Given the description of an element on the screen output the (x, y) to click on. 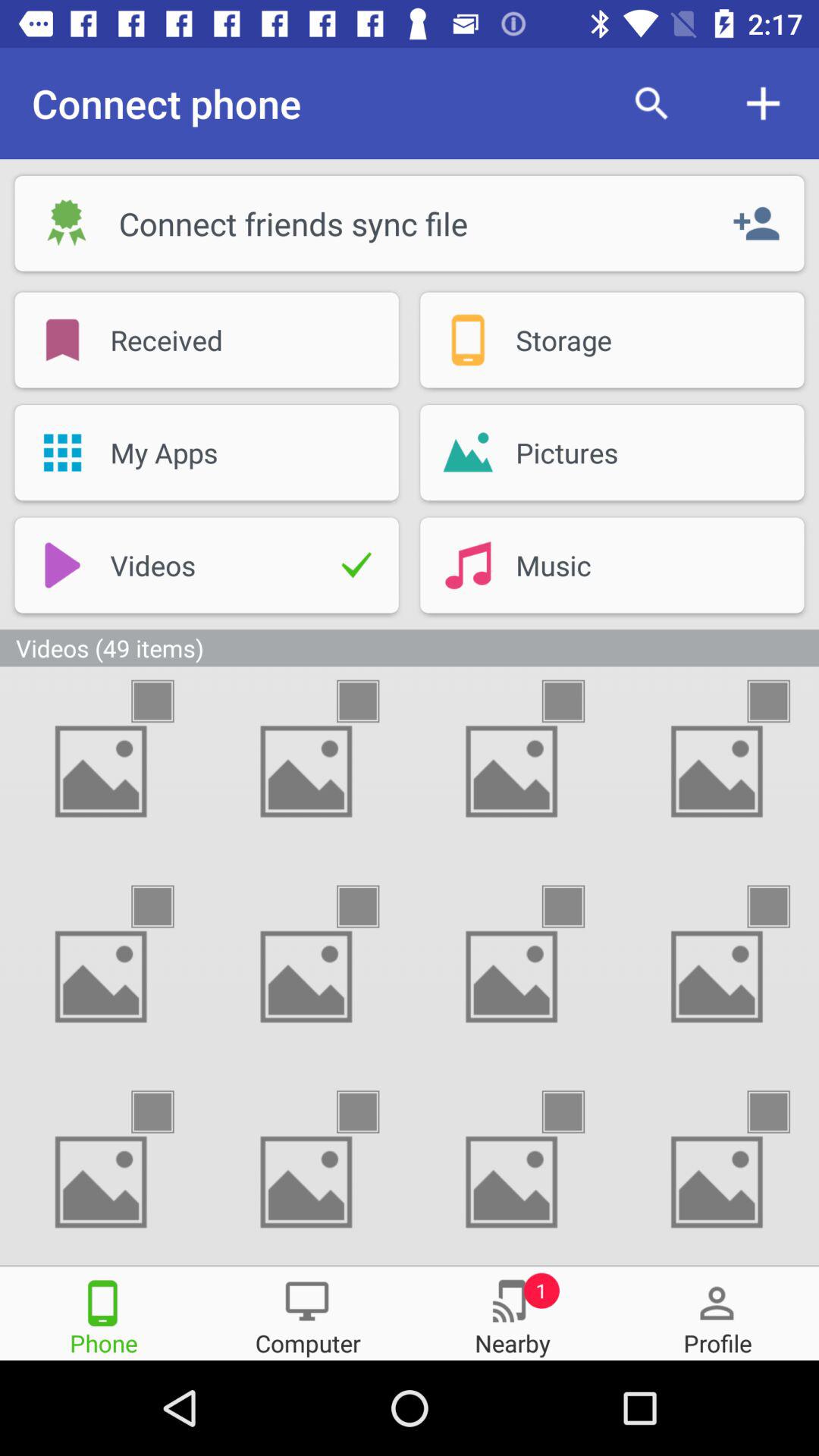
select the picture (166, 906)
